Given the description of an element on the screen output the (x, y) to click on. 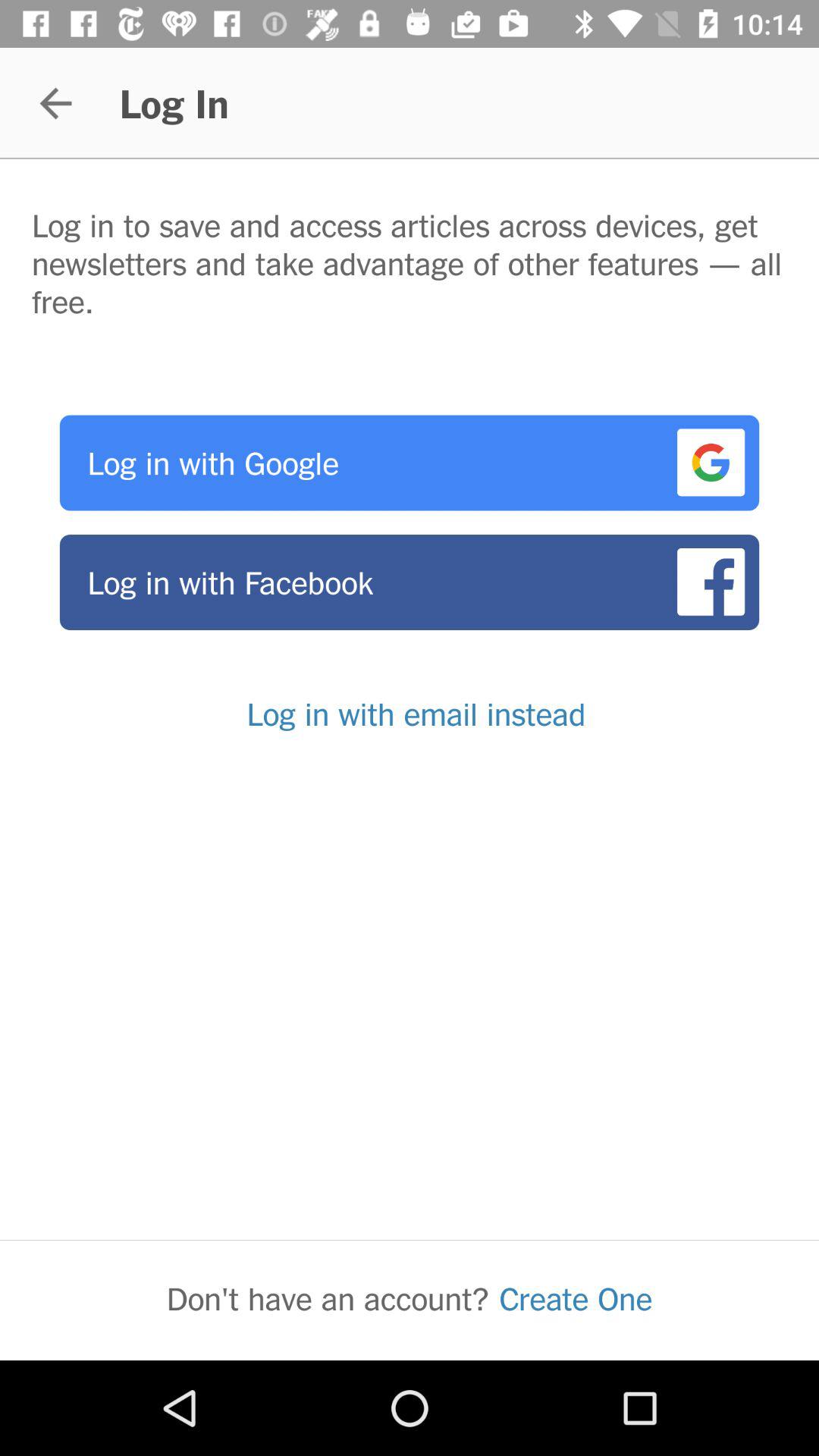
press the item above log in to icon (55, 103)
